Given the description of an element on the screen output the (x, y) to click on. 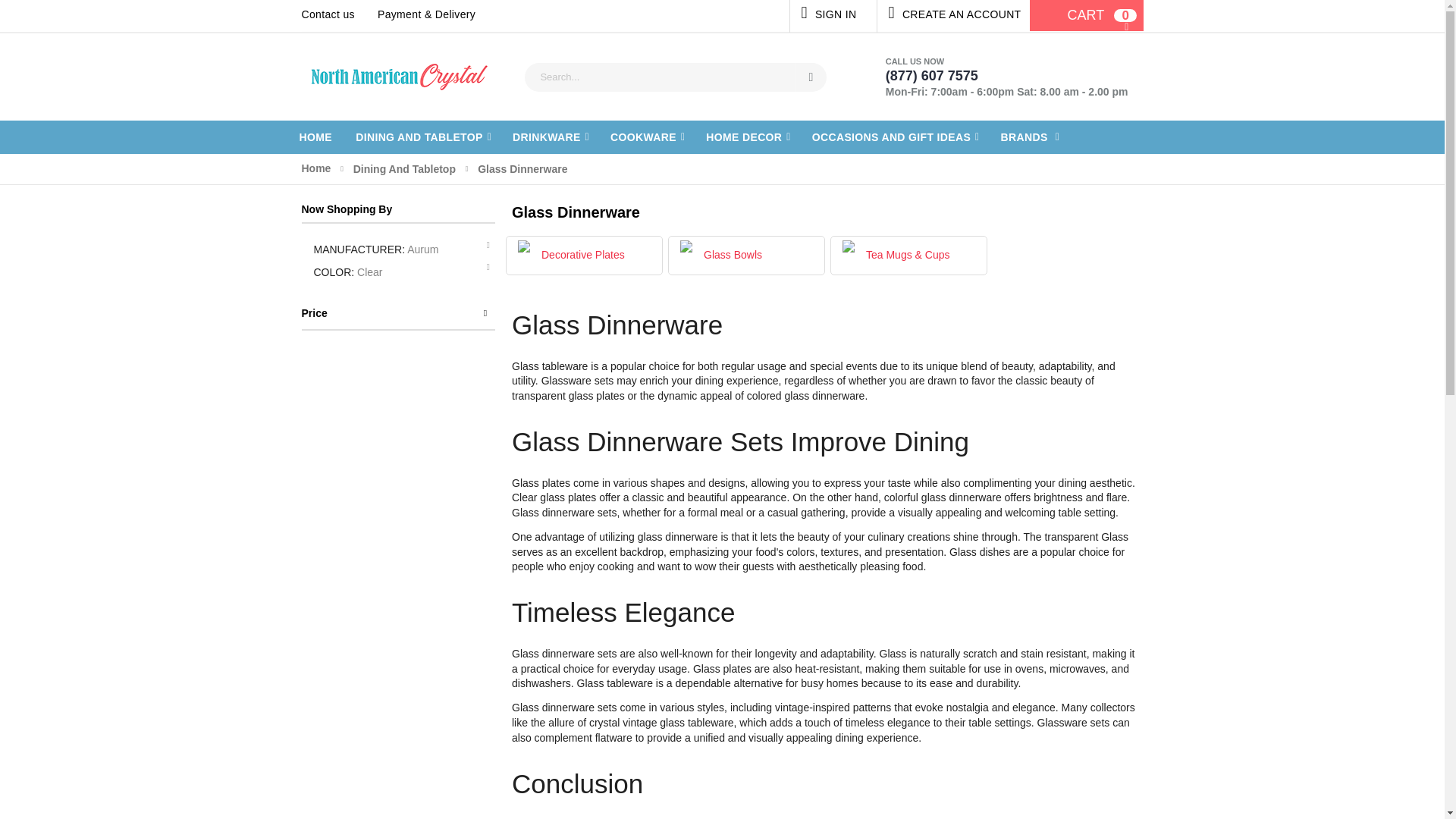
DRINKWARE (550, 136)
Dining and Tabletop (423, 136)
CREATE AN ACCOUNT (948, 16)
DINING AND TABLETOP (423, 136)
North American Crystal (400, 76)
Search (810, 77)
Contact us (333, 14)
SIGN IN (828, 16)
Search (1073, 16)
HOME (810, 77)
